Given the description of an element on the screen output the (x, y) to click on. 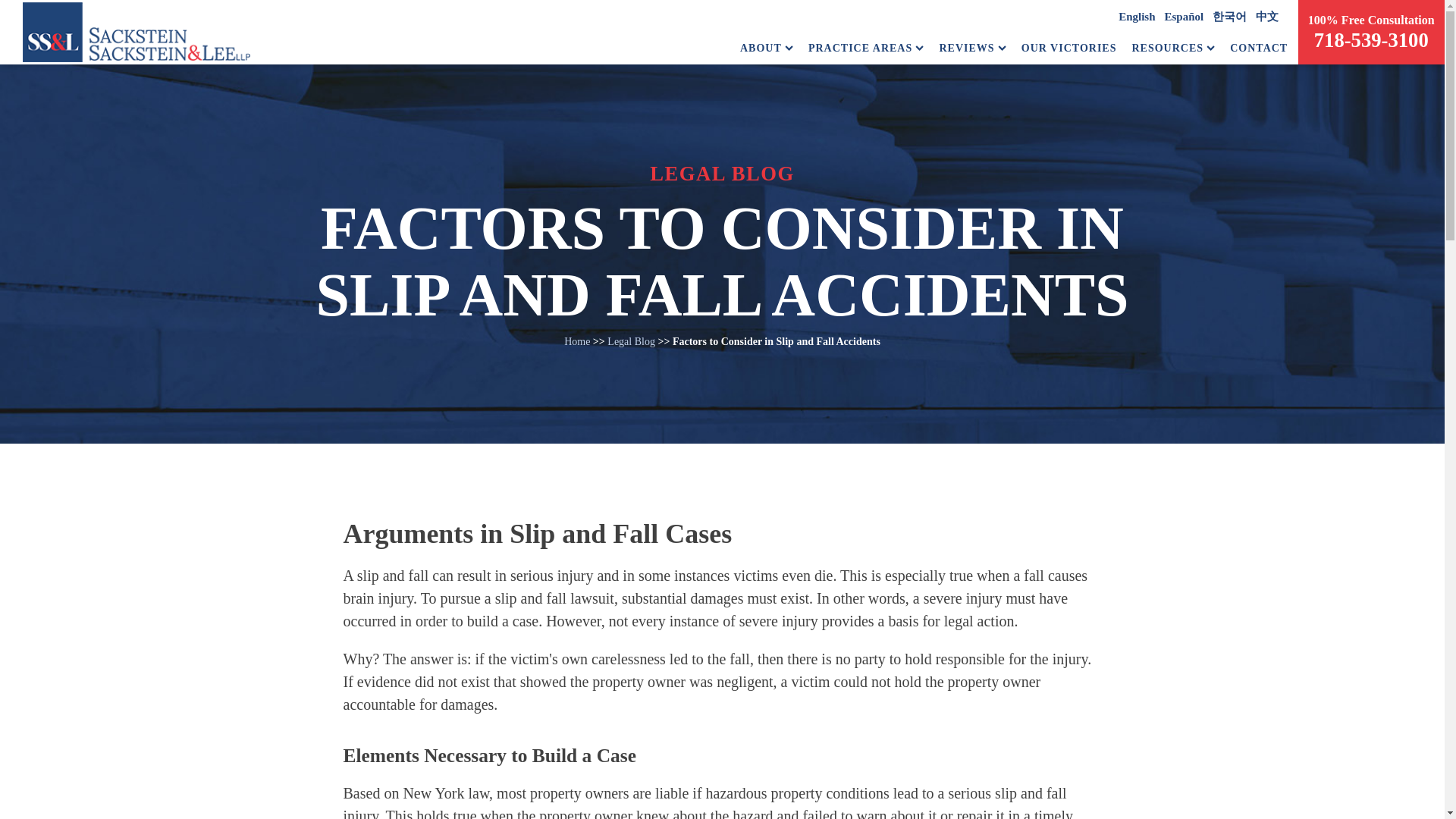
ABOUT (766, 48)
CONTACT (1258, 48)
718-539-3100 (1371, 40)
REVIEWS (972, 48)
RESOURCES (1172, 48)
PRACTICE AREAS (866, 48)
English (1136, 16)
OUR VICTORIES (1069, 48)
